Given the description of an element on the screen output the (x, y) to click on. 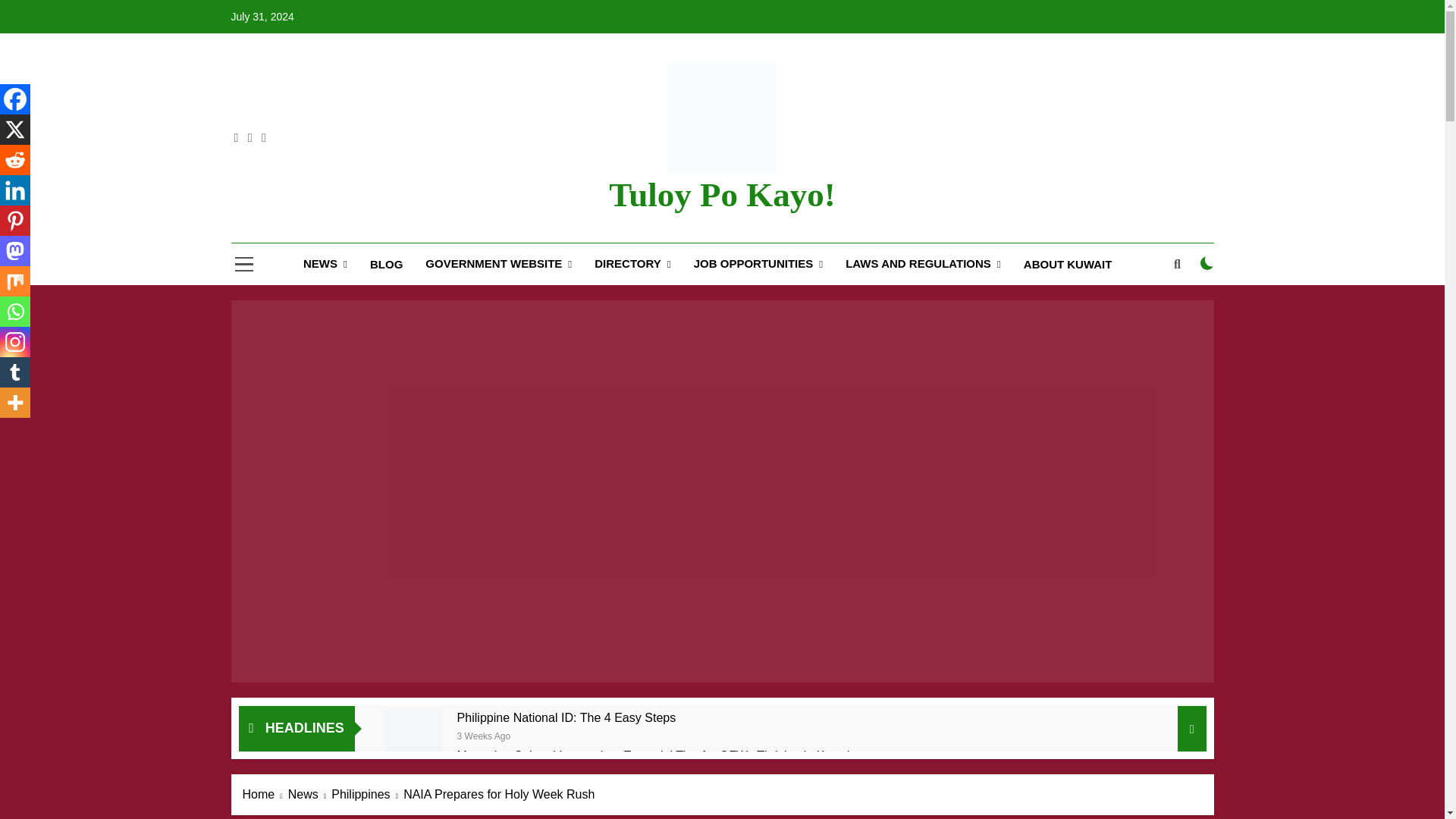
Philippine National ID: The 4 Easy Steps (413, 737)
Philippine National ID: The 4 Easy Steps (567, 717)
Tuloy Po Kayo! (721, 194)
on (1206, 263)
